Given the description of an element on the screen output the (x, y) to click on. 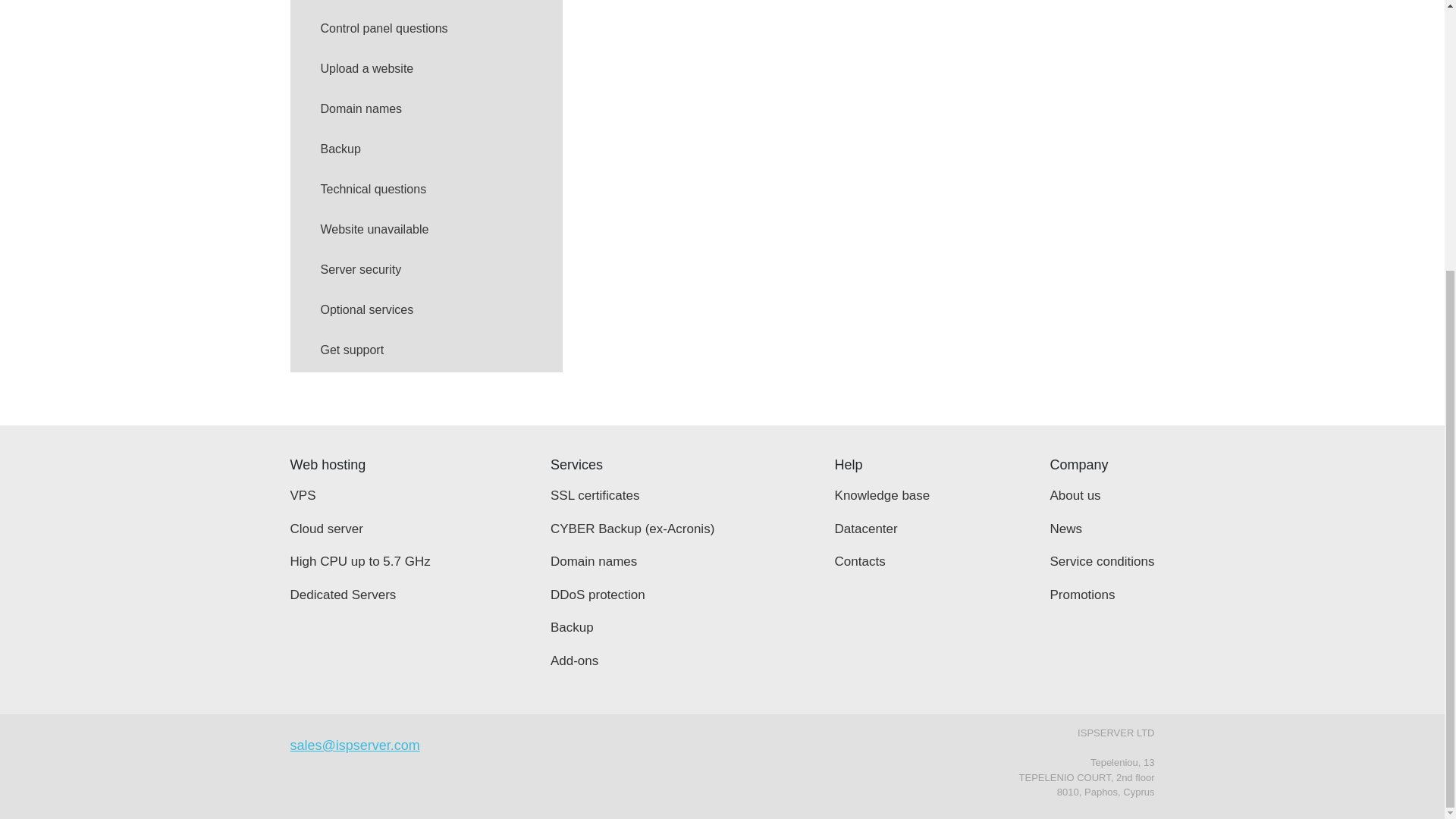
Website unavailable (425, 231)
Upload a website (425, 70)
Domain names (425, 110)
Control panel questions (425, 30)
Technical questions (425, 191)
Server security (425, 271)
Backup (425, 151)
Where to begin (425, 5)
